Given the description of an element on the screen output the (x, y) to click on. 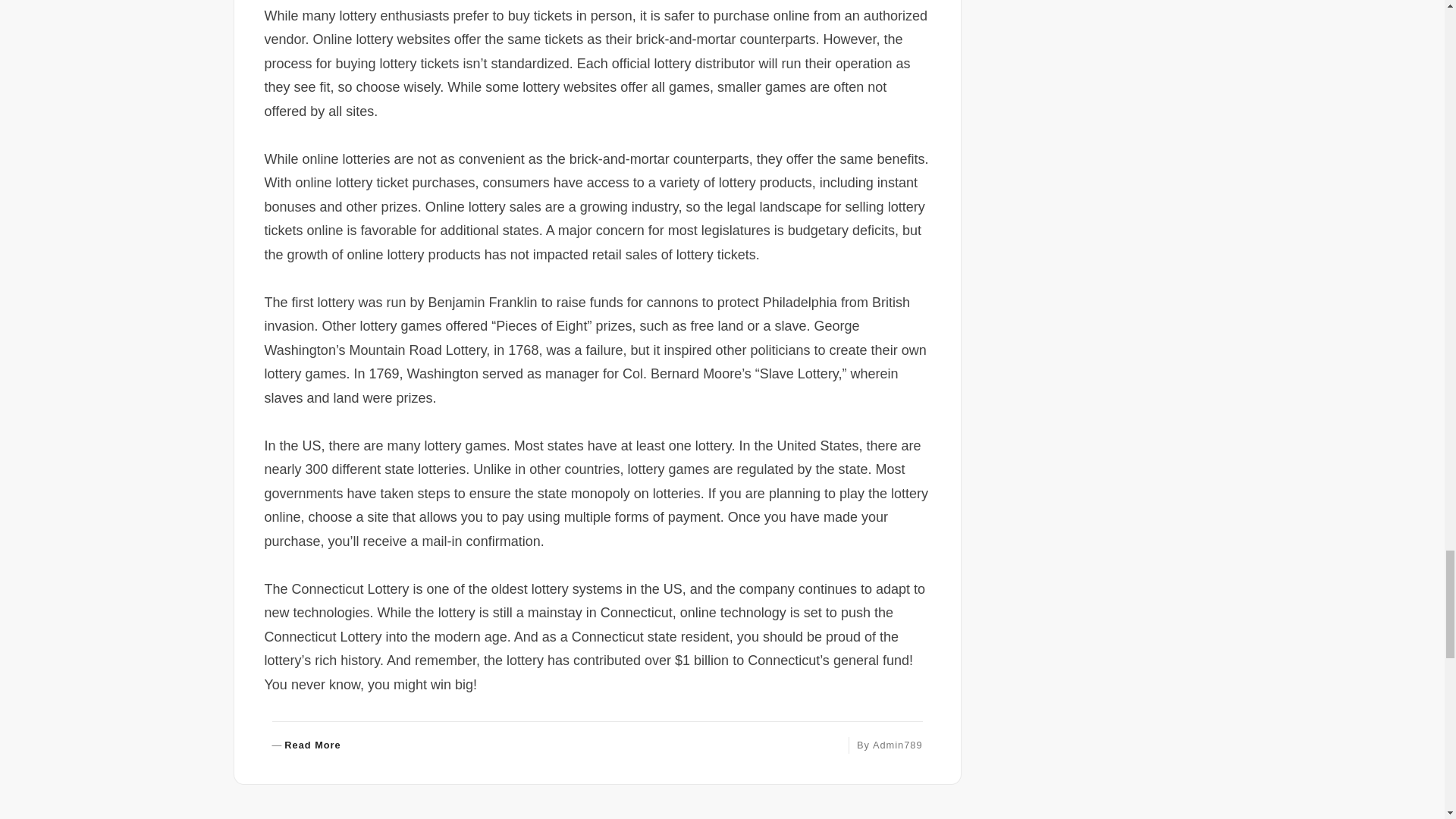
Admin789 (305, 745)
